Given the description of an element on the screen output the (x, y) to click on. 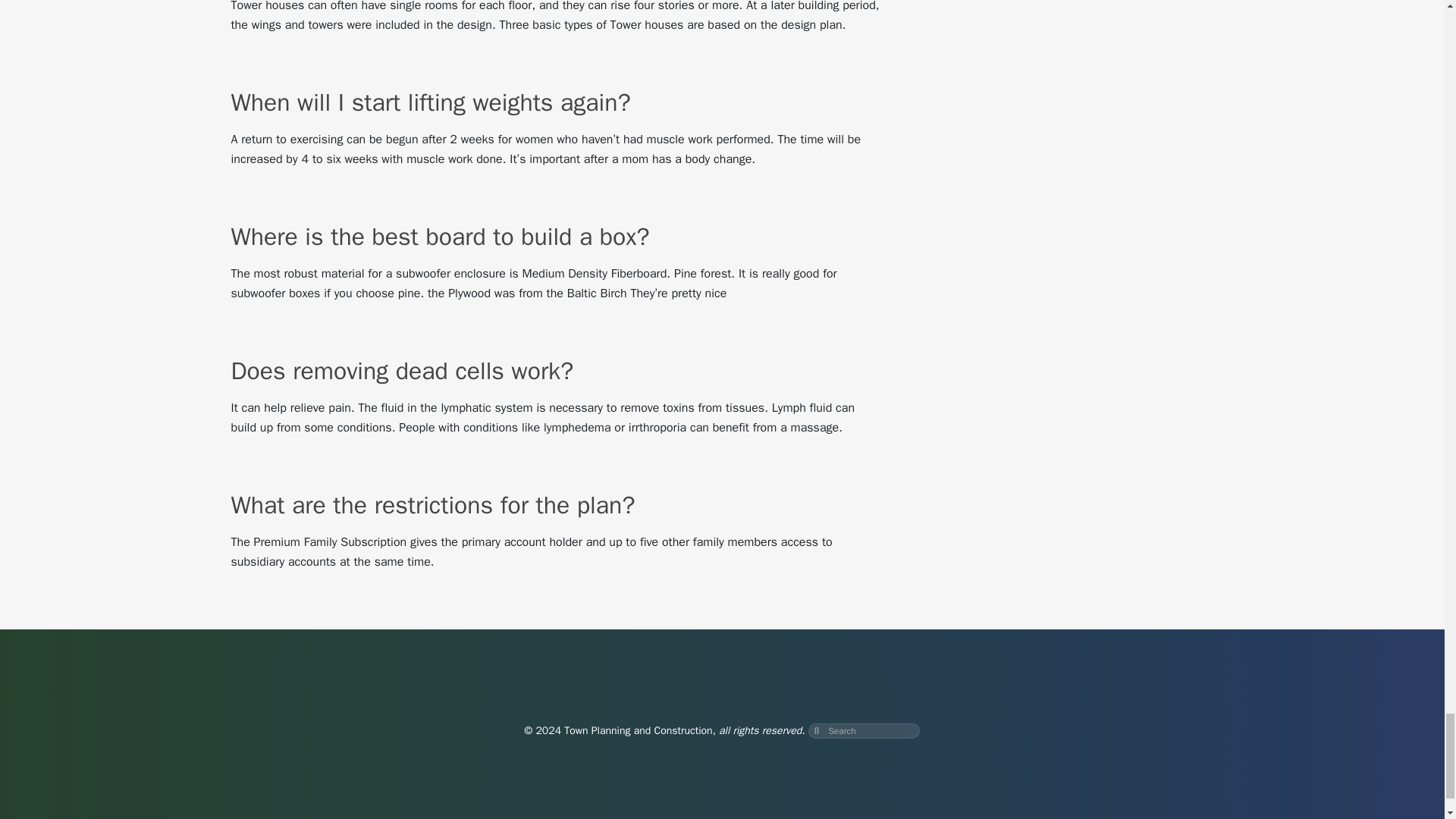
Town Planning and Construction (637, 729)
